Given the description of an element on the screen output the (x, y) to click on. 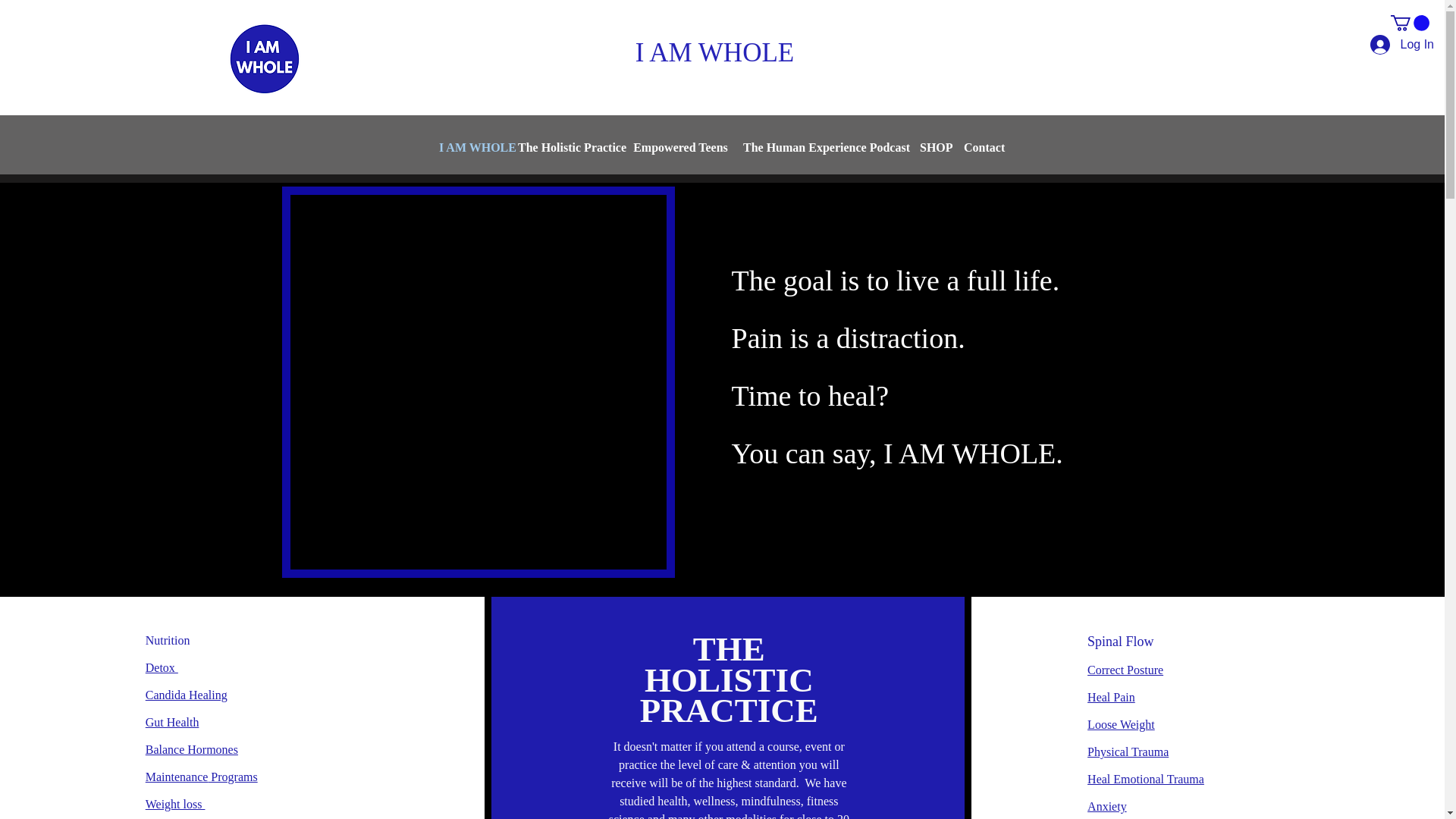
Empowered Teens (680, 147)
The Human Experience Podcast (823, 147)
The Holistic Practice (568, 147)
Anxiety (1106, 806)
Loose Weight (1120, 724)
Detox  (161, 667)
Weight loss  (175, 803)
Gut Health (172, 721)
Balance Hormones (191, 748)
Heal Pain (1111, 697)
